Given the description of an element on the screen output the (x, y) to click on. 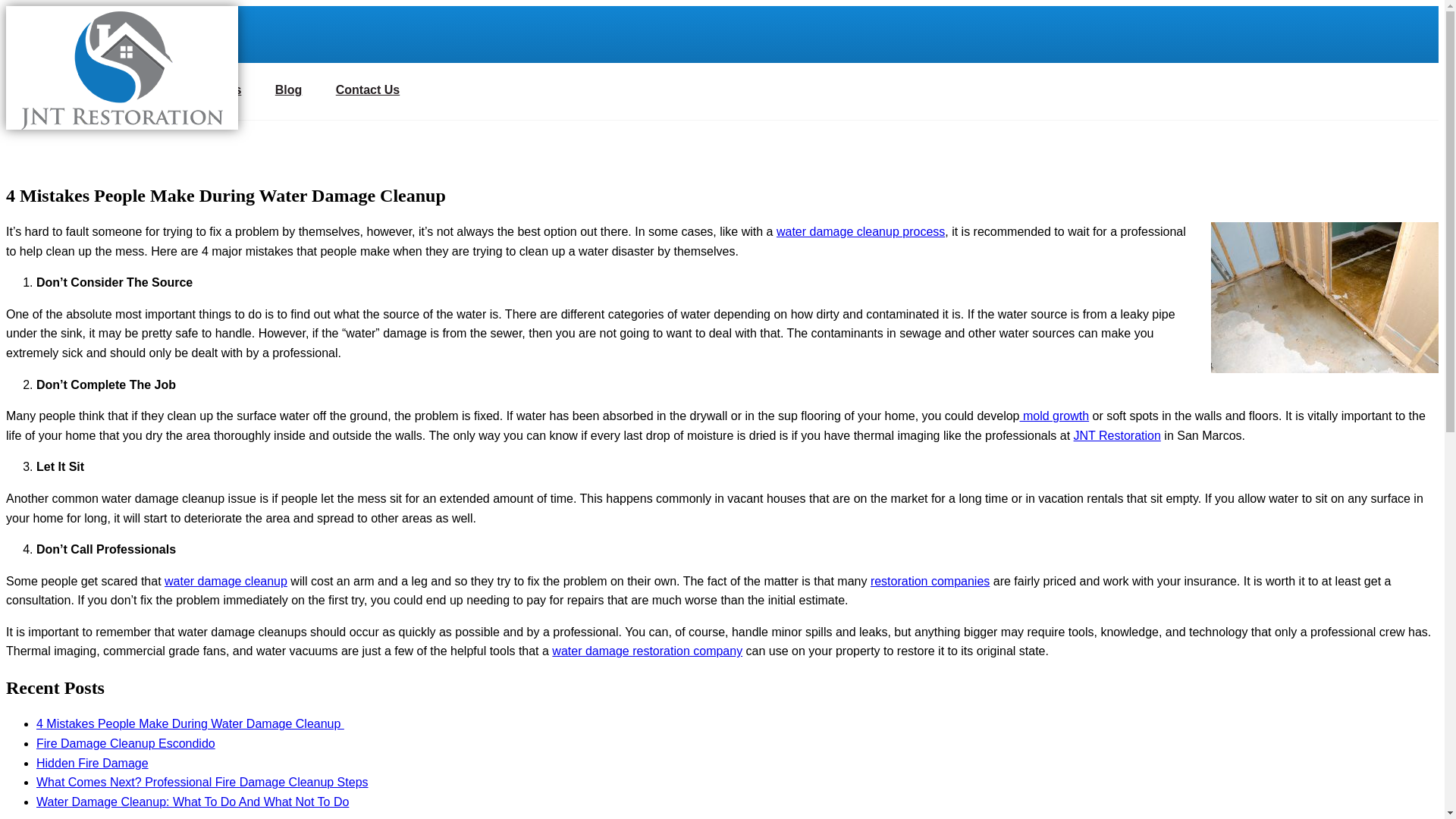
Home (37, 89)
Hidden Fire Damage (92, 762)
Fire Damage Cleanup Escondido (125, 743)
What Comes Next? Professional Fire Damage Cleanup Steps (202, 781)
water damage restoration company (646, 650)
760-410-6400 (91, 32)
JNT Restoration (1117, 435)
Services (200, 89)
Water Damage Cleanup: What To Do And What Not To Do (192, 801)
Contact Us (351, 89)
